Given the description of an element on the screen output the (x, y) to click on. 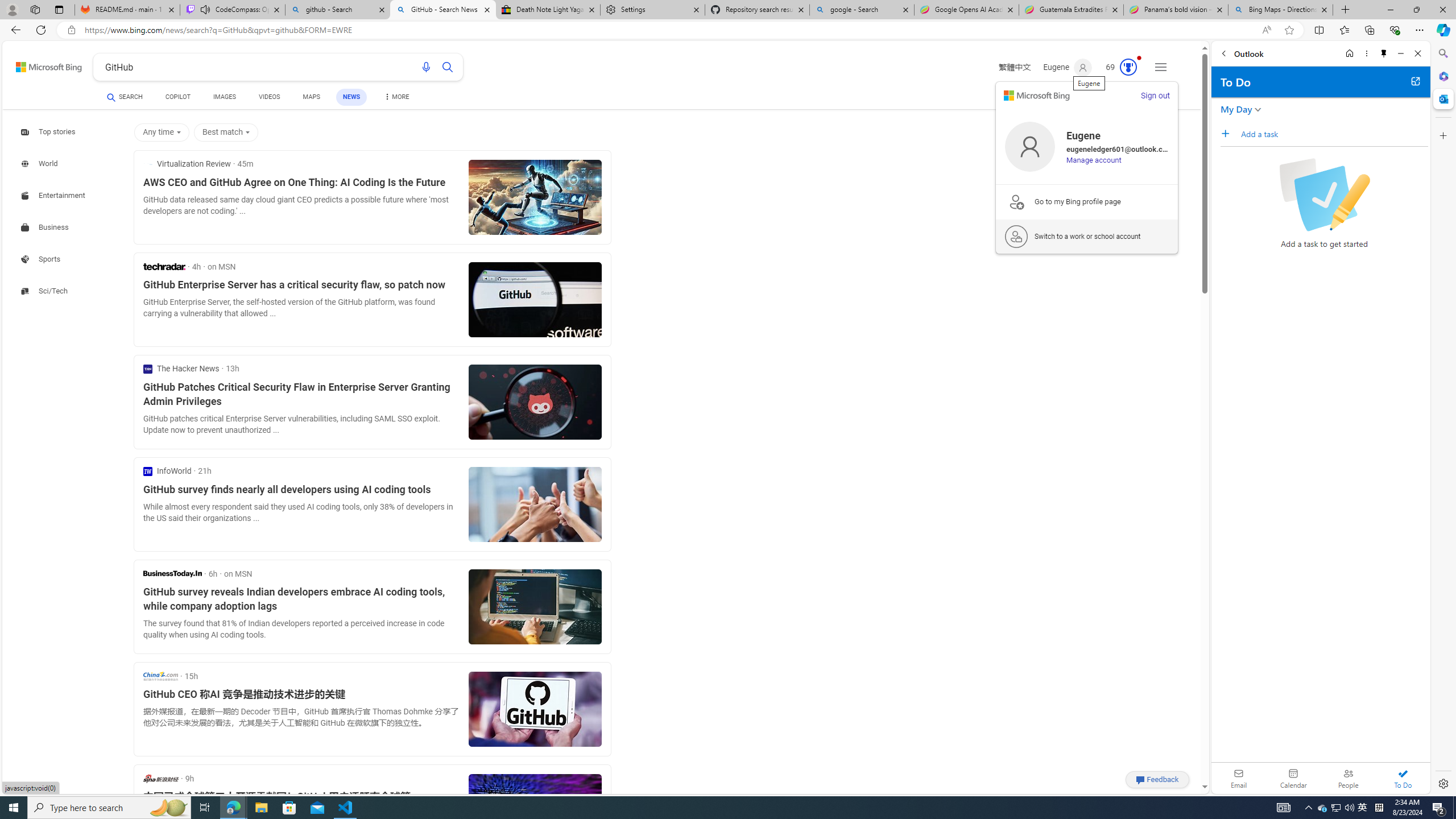
Search news from InfoWorld (167, 470)
People (1347, 777)
NEWS (350, 96)
To Do (1402, 777)
Search news about Sci/Tech (45, 290)
My Day (1236, 109)
Search button (447, 66)
Eugene (1067, 67)
